Given the description of an element on the screen output the (x, y) to click on. 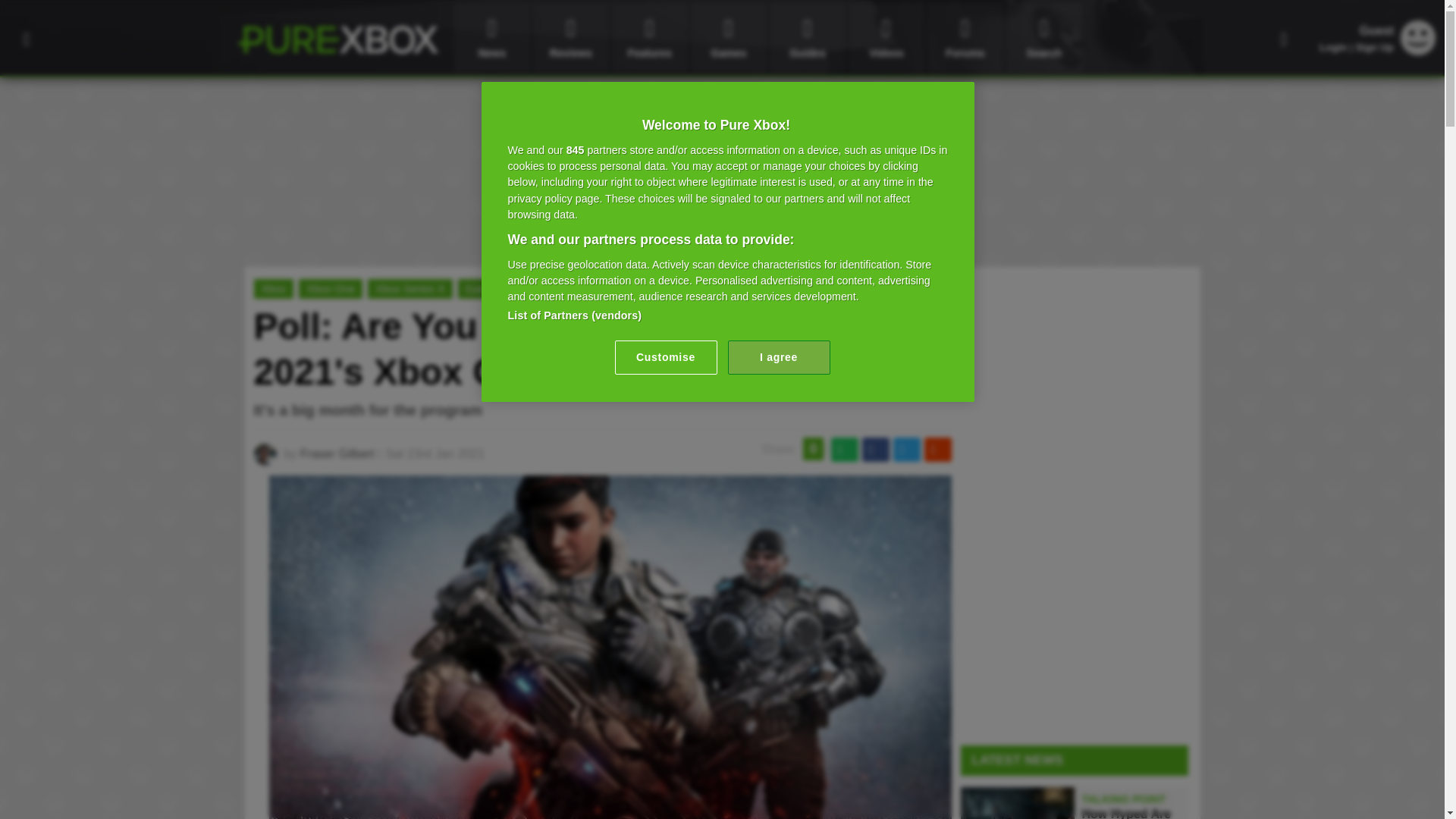
Forums (965, 37)
Pure Xbox (336, 39)
Games (728, 37)
Guest (1417, 37)
Features (649, 37)
Search (1043, 37)
Guides (807, 37)
Sign Up (1374, 47)
Share This Page (1283, 37)
Login (1332, 47)
Reviews (570, 37)
News (491, 37)
Guest (1417, 51)
Videos (886, 37)
Pure Xbox (336, 39)
